Given the description of an element on the screen output the (x, y) to click on. 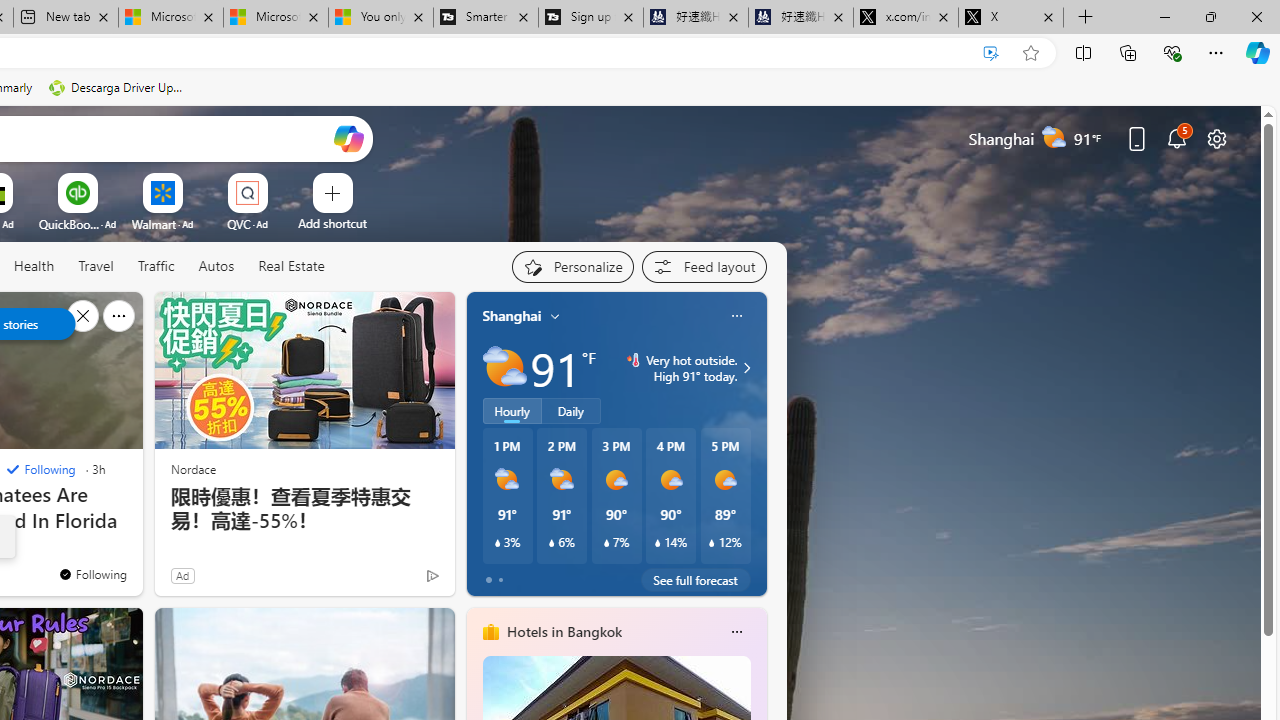
Travel (95, 265)
Health (34, 265)
Daily (571, 411)
Descarga Driver Updater (118, 88)
tab-0 (488, 579)
hotels-header-icon (490, 632)
Traffic (155, 267)
